Given the description of an element on the screen output the (x, y) to click on. 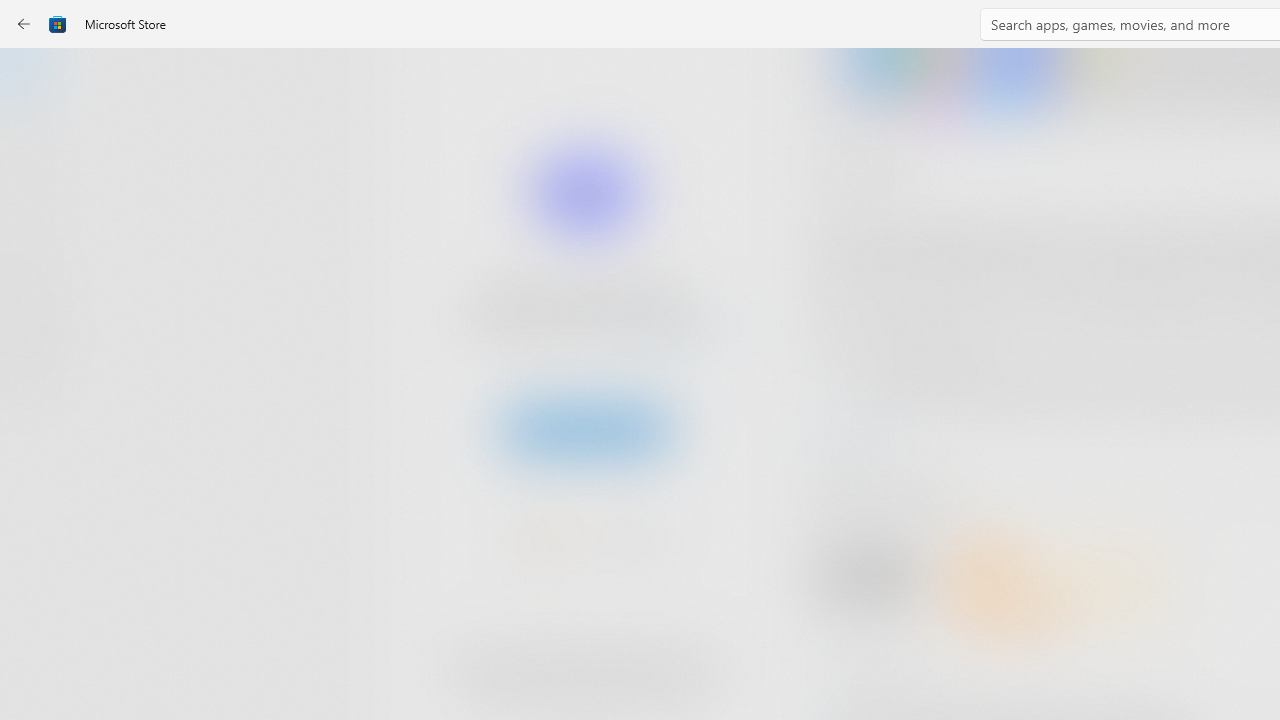
Microsoft Corporation (673, 333)
Back (24, 24)
2.6 stars. Click to skip to ratings and reviews (542, 543)
Arcade (35, 265)
Entertainment (35, 327)
Class: Image (58, 24)
Install (586, 428)
Sign in to review (882, 667)
Apps (35, 141)
Home (35, 79)
AI Hub (35, 390)
Show more (854, 428)
Gaming (35, 203)
